Given the description of an element on the screen output the (x, y) to click on. 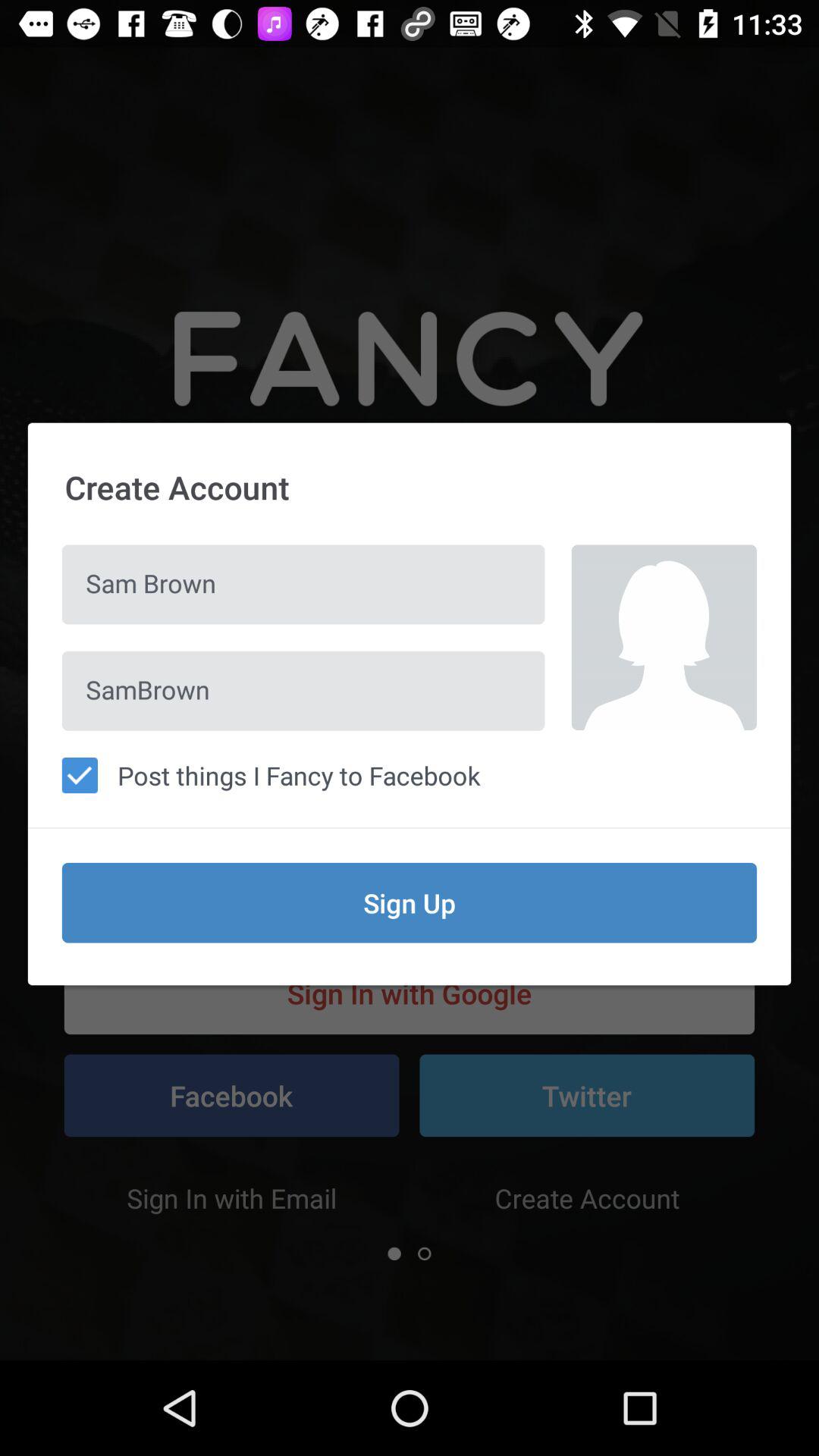
scroll until sambrown icon (302, 690)
